Given the description of an element on the screen output the (x, y) to click on. 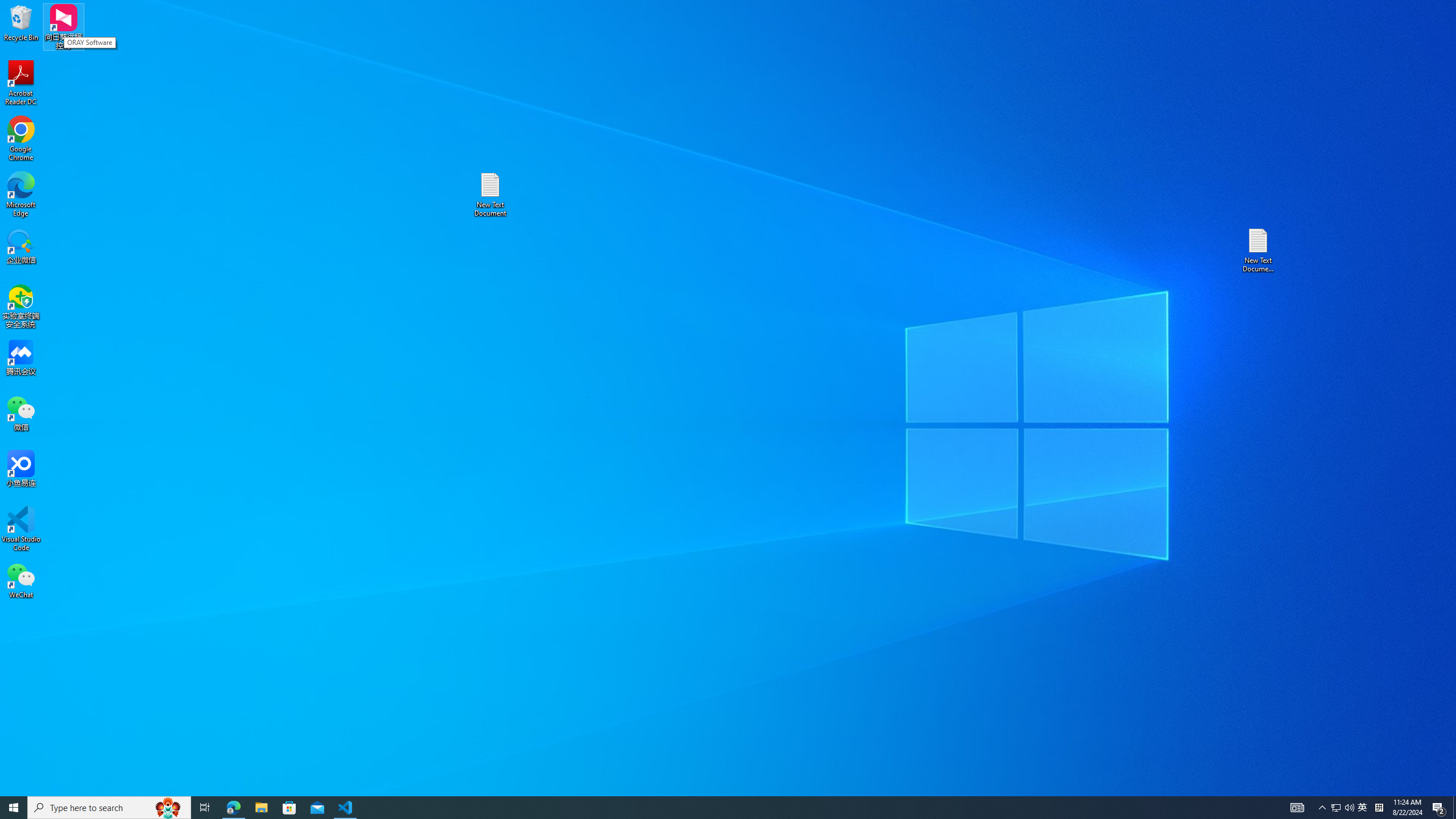
Google Chrome (21, 138)
AutomationID: 4105 (1297, 807)
New Text Document (489, 194)
